Given the description of an element on the screen output the (x, y) to click on. 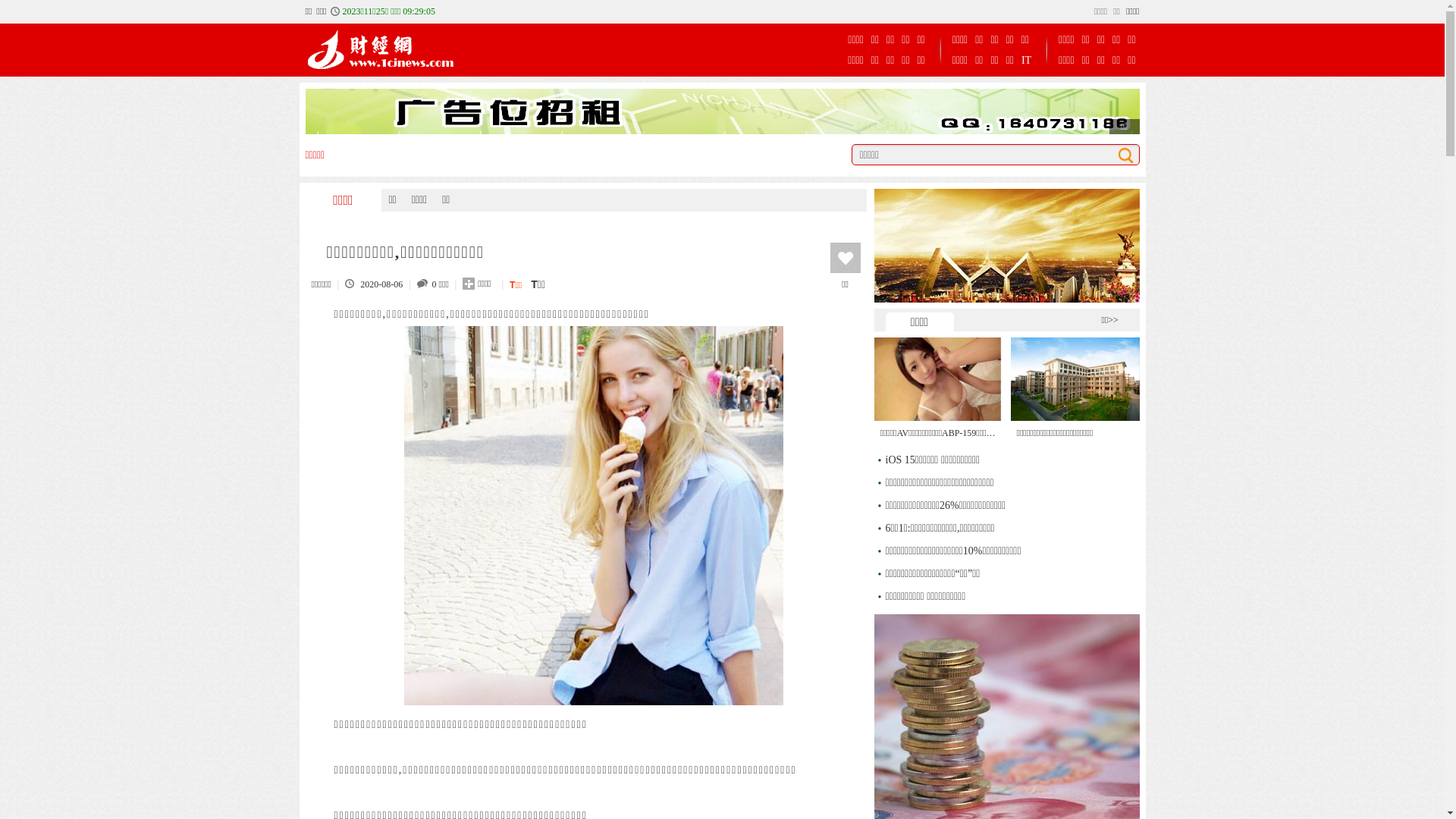
IT Element type: text (1026, 59)
